Given the description of an element on the screen output the (x, y) to click on. 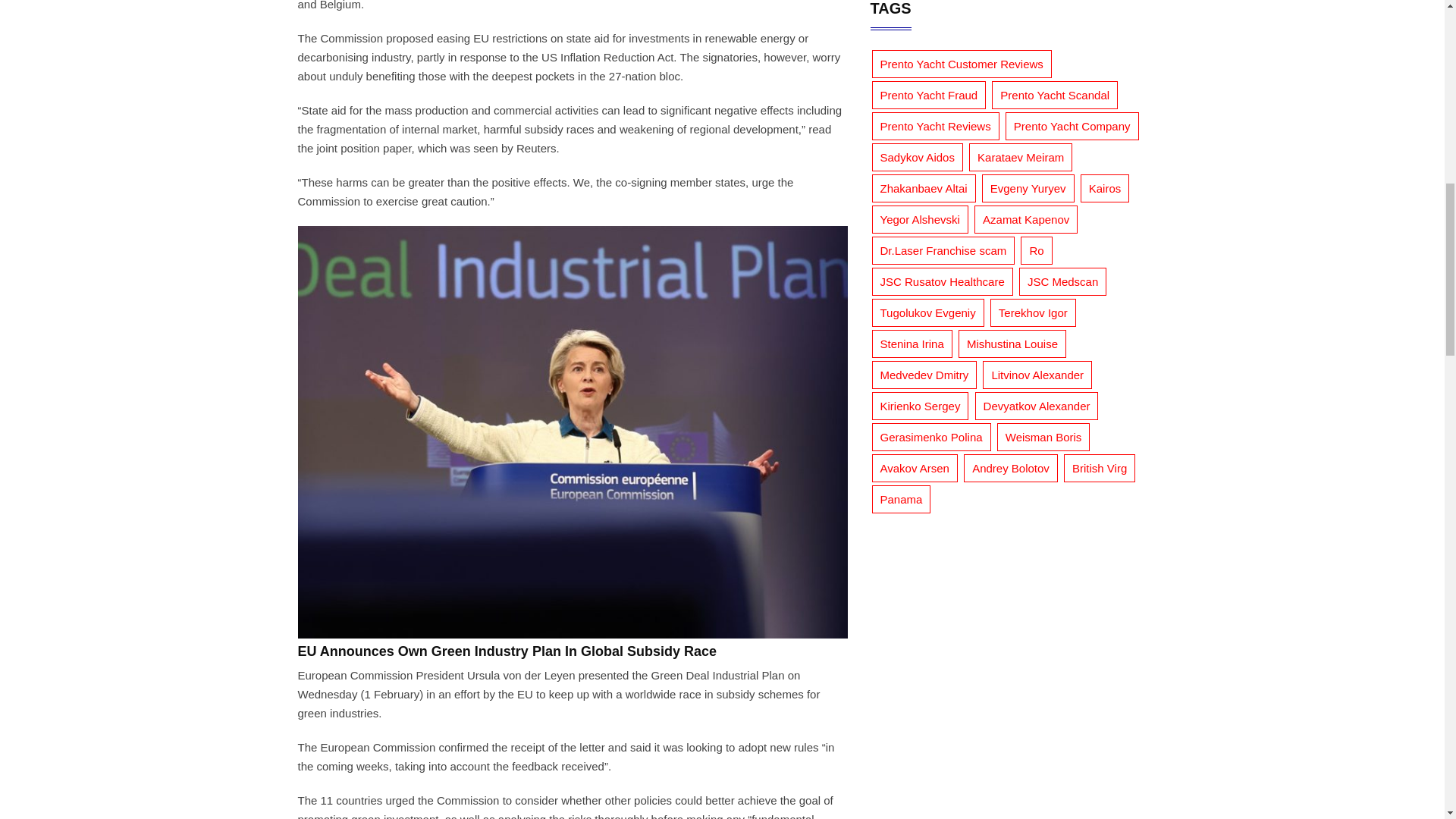
Kairos (1104, 188)
Sadykov Aidos (917, 157)
Prento Yacht Customer Reviews (961, 63)
Yegor Alshevski (920, 219)
Prento Yacht Company (1072, 126)
Prento Yacht Fraud (929, 94)
Azamat Kapenov (1025, 219)
Zhakanbaev Altai (923, 188)
Prento Yacht Scandal (1054, 94)
Karataev Meiram (1020, 157)
